Given the description of an element on the screen output the (x, y) to click on. 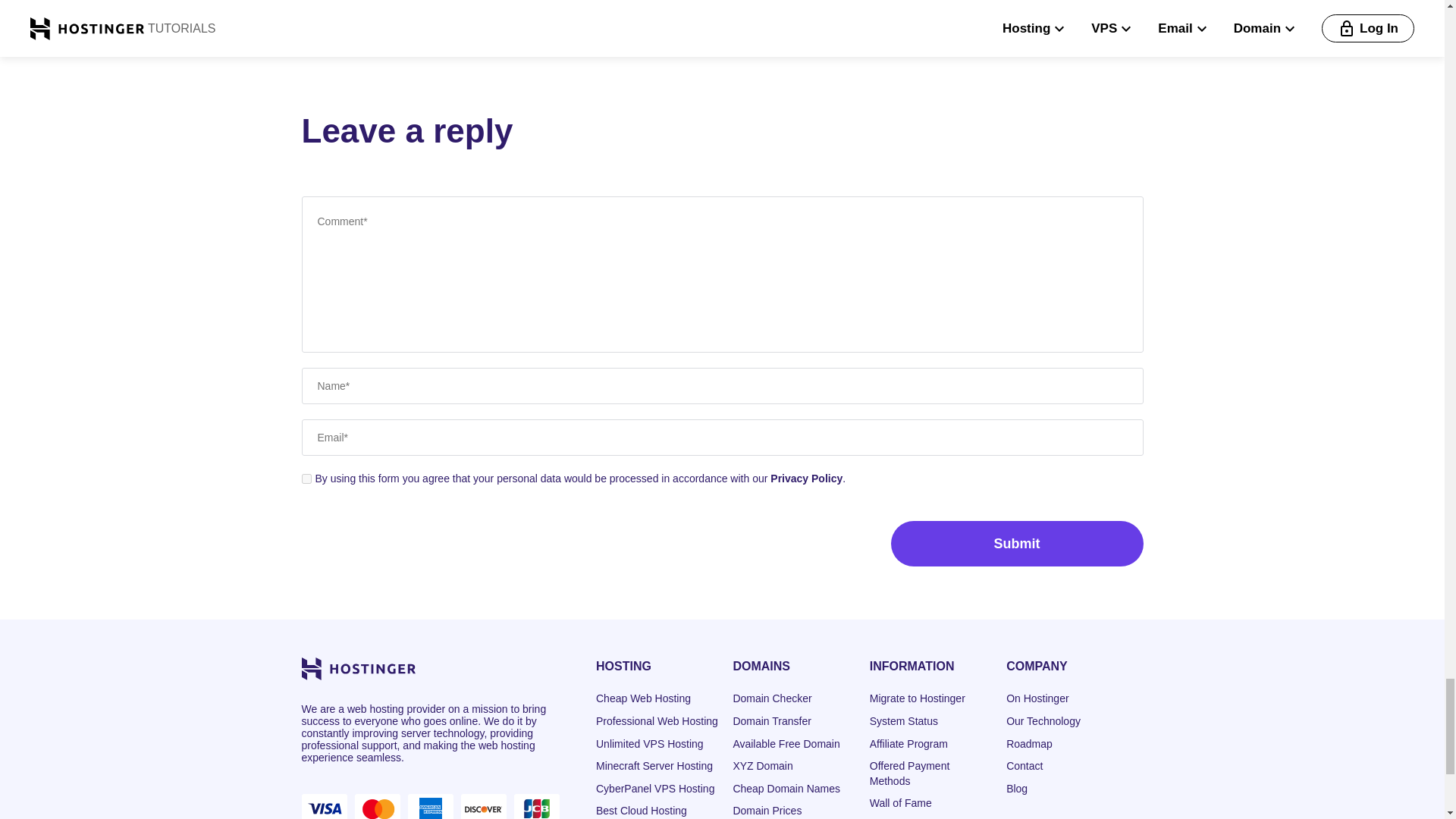
Submit (1015, 543)
yes (306, 479)
